Given the description of an element on the screen output the (x, y) to click on. 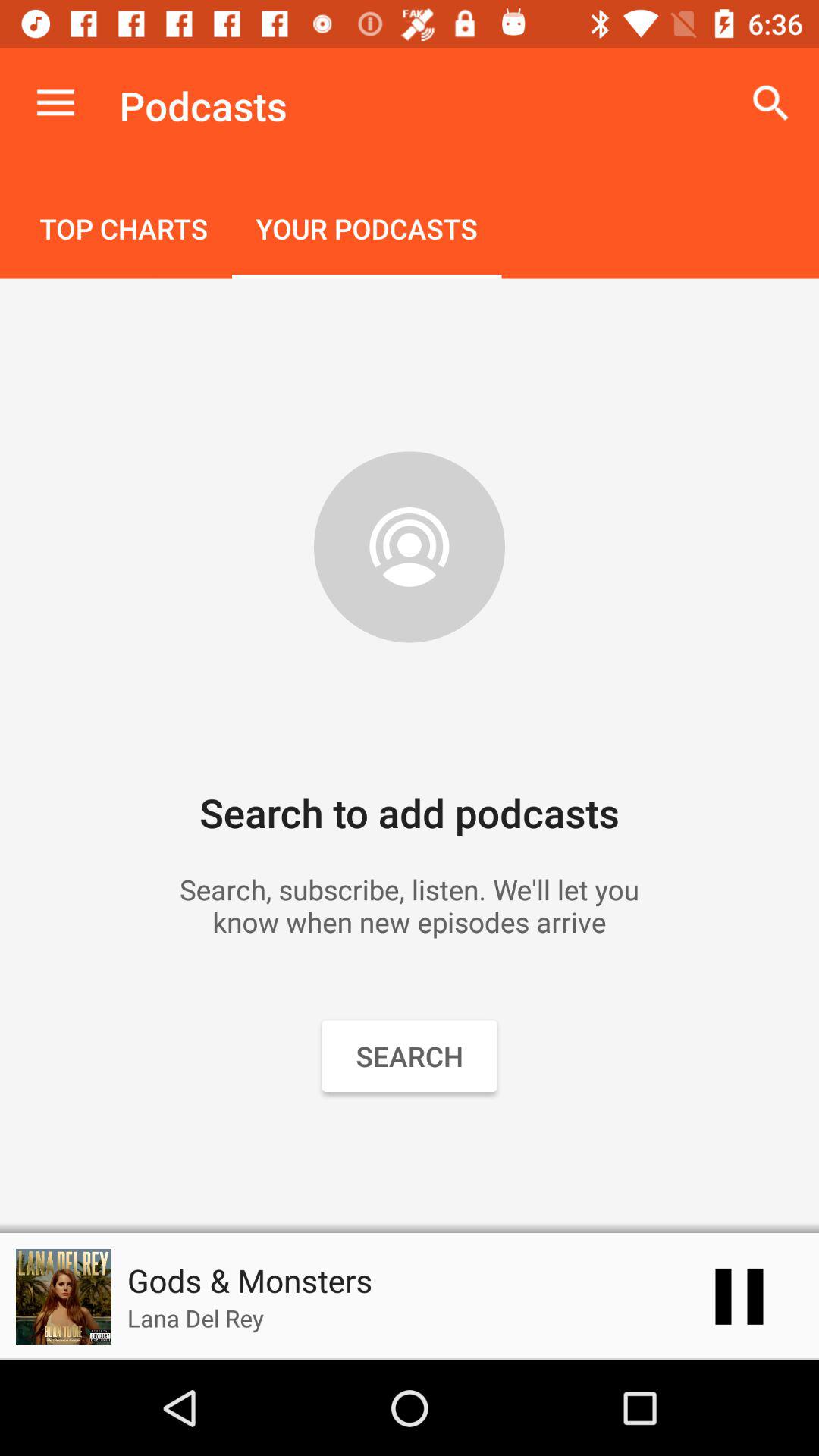
press item to the left of podcasts icon (55, 103)
